Given the description of an element on the screen output the (x, y) to click on. 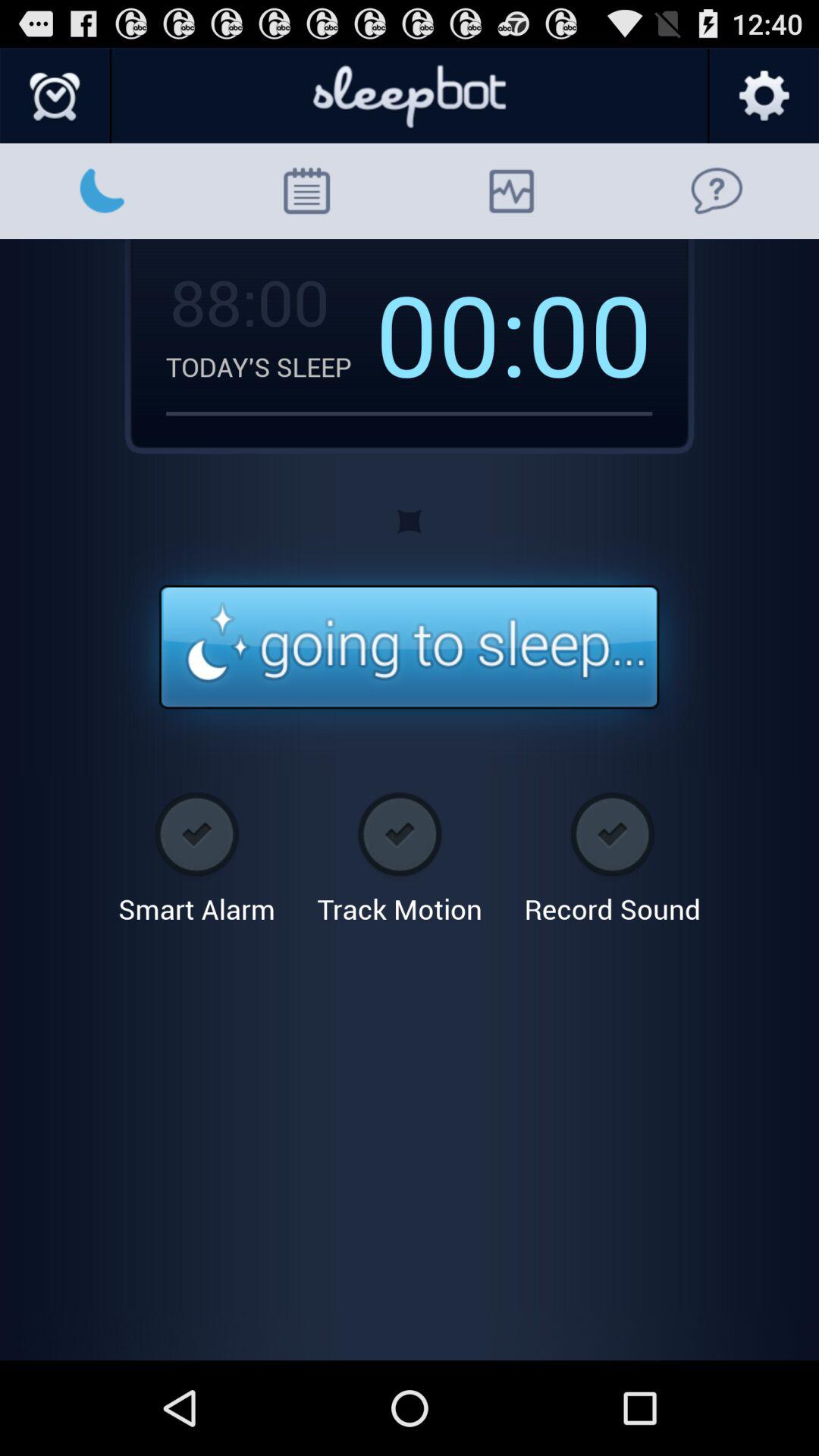
set an alarm (55, 96)
